Given the description of an element on the screen output the (x, y) to click on. 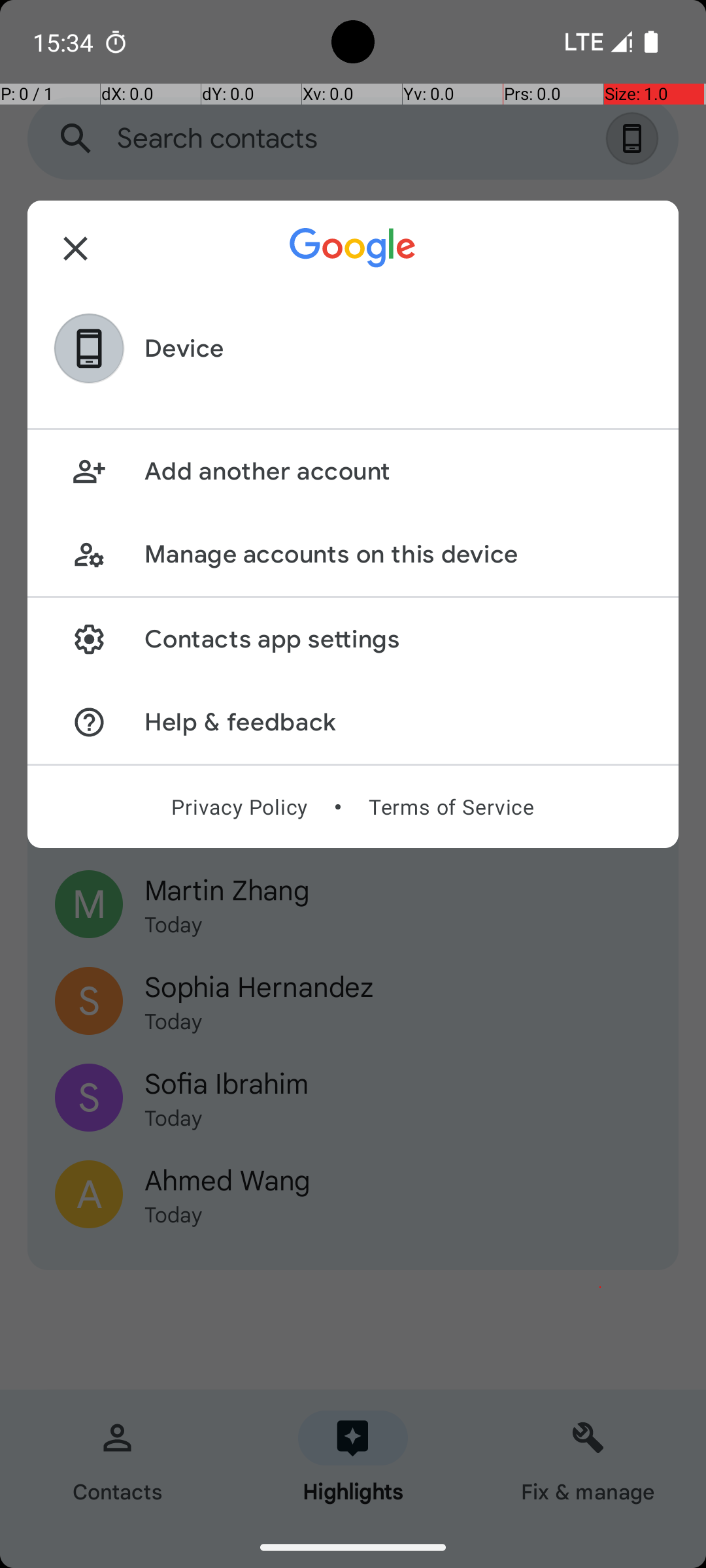
Add another account Element type: android.widget.TextView (397, 471)
Manage accounts on this device Element type: android.widget.TextView (397, 554)
Contacts app settings Element type: android.widget.TextView (397, 638)
